Given the description of an element on the screen output the (x, y) to click on. 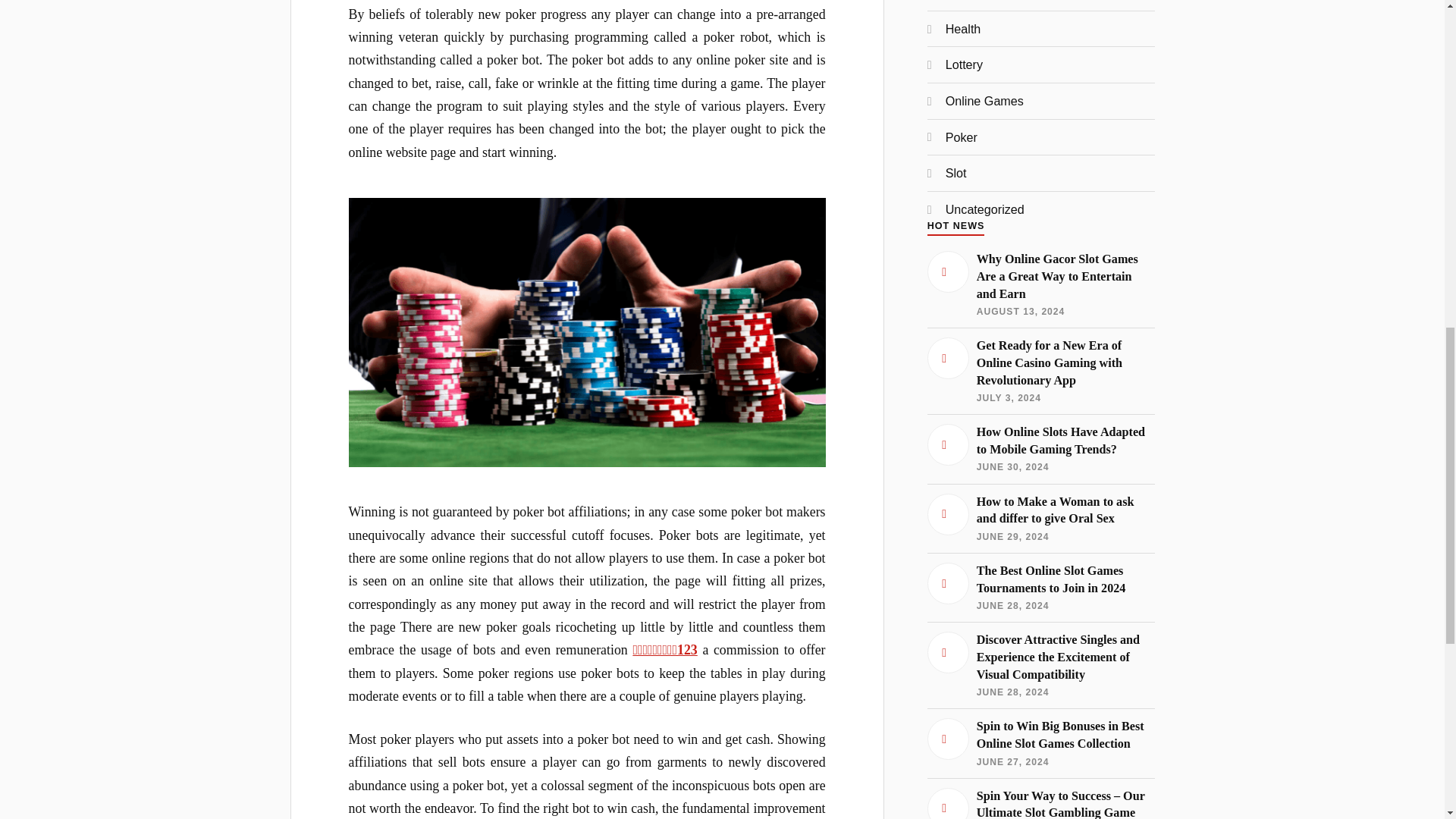
Poker (960, 137)
Lottery (963, 64)
Online Games (983, 100)
Slot (955, 172)
Health (962, 29)
